Given the description of an element on the screen output the (x, y) to click on. 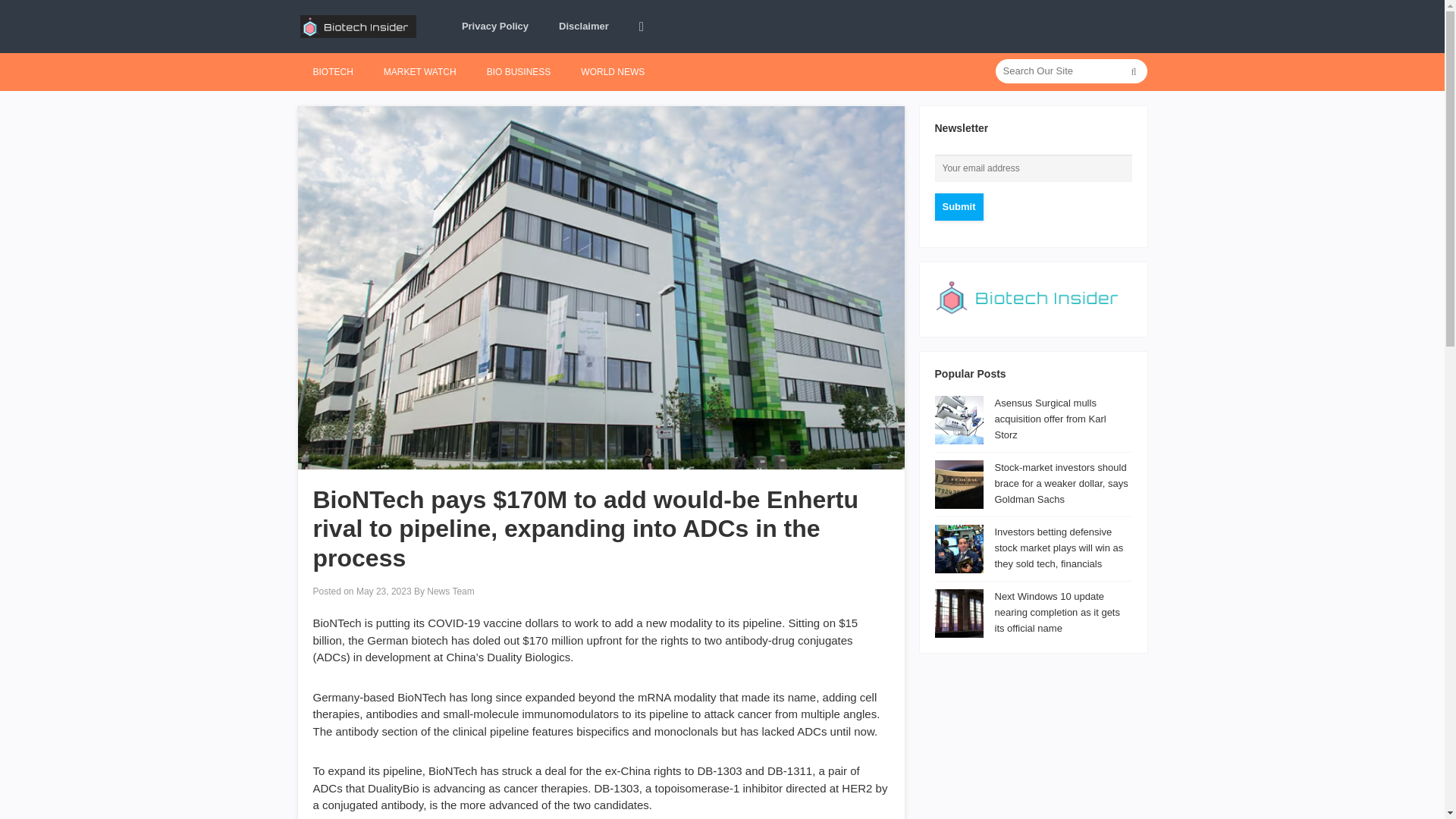
WORLD NEWS (612, 71)
BIOTECH (332, 71)
Asensus Surgical mulls acquisition offer from Karl Storz (1050, 418)
Submit (958, 206)
Submit (958, 206)
Disclaimer (583, 26)
BIO BUSINESS (518, 71)
MARKET WATCH (419, 71)
Privacy Policy (494, 26)
